Given the description of an element on the screen output the (x, y) to click on. 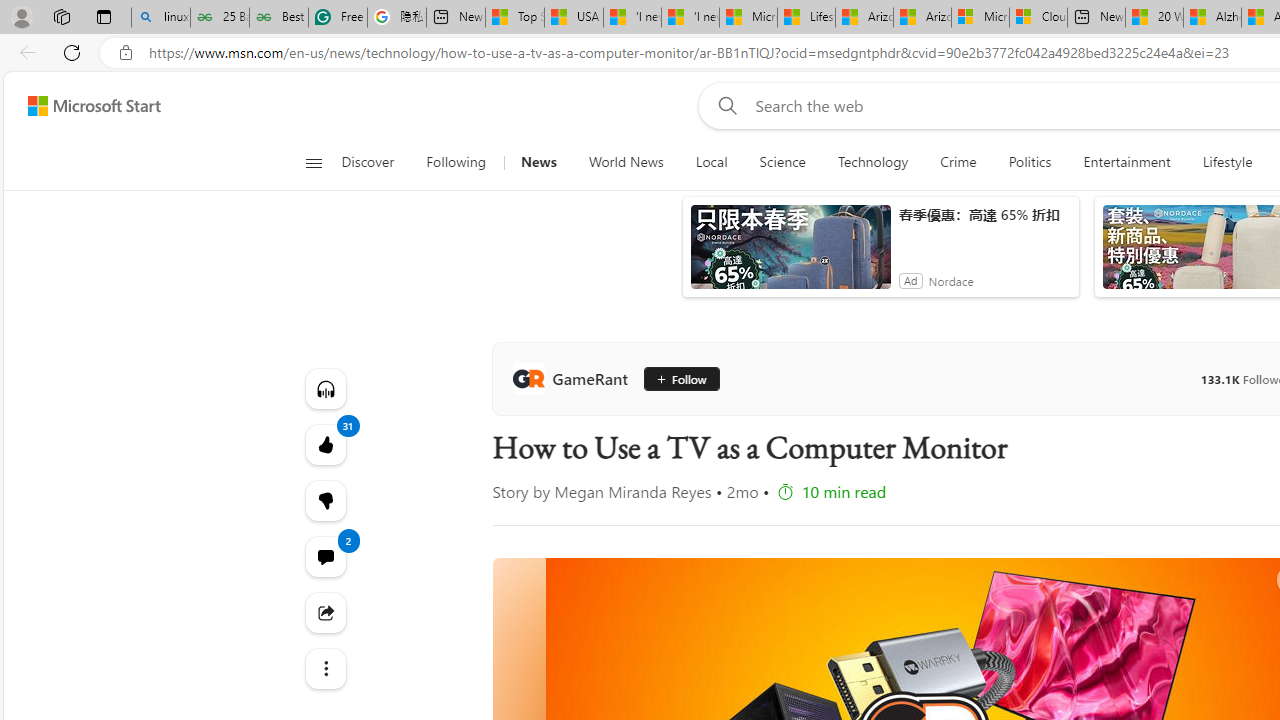
World News (625, 162)
News (538, 162)
Lifestyle (1227, 162)
